Given the description of an element on the screen output the (x, y) to click on. 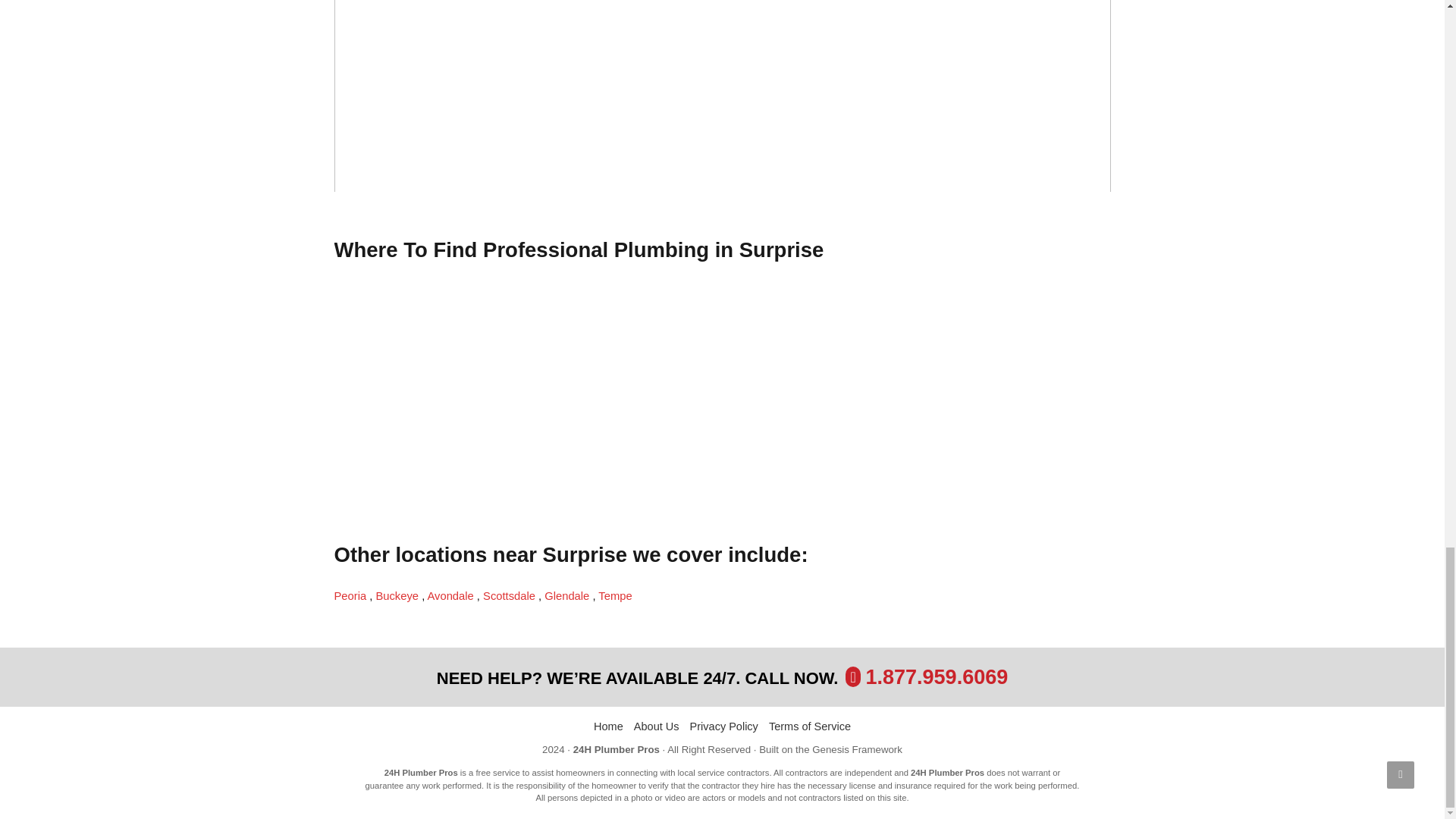
Emergency Plumber Buckeye, AZ (398, 595)
Buckeye (398, 595)
Scottsdale (510, 595)
About Us (656, 727)
Peoria (351, 595)
Terms of Service (809, 727)
Emergency Plumber in Glendale (568, 595)
Emergency Plumber in Peoria, AZ (351, 595)
Home (608, 727)
24H Plumber Pros (616, 749)
Emergency Plumber in Scottsdale (510, 595)
Glendale (568, 595)
Privacy Policy (724, 727)
1.877.959.6069 (937, 676)
Emergency Plumber Avondale (452, 595)
